Given the description of an element on the screen output the (x, y) to click on. 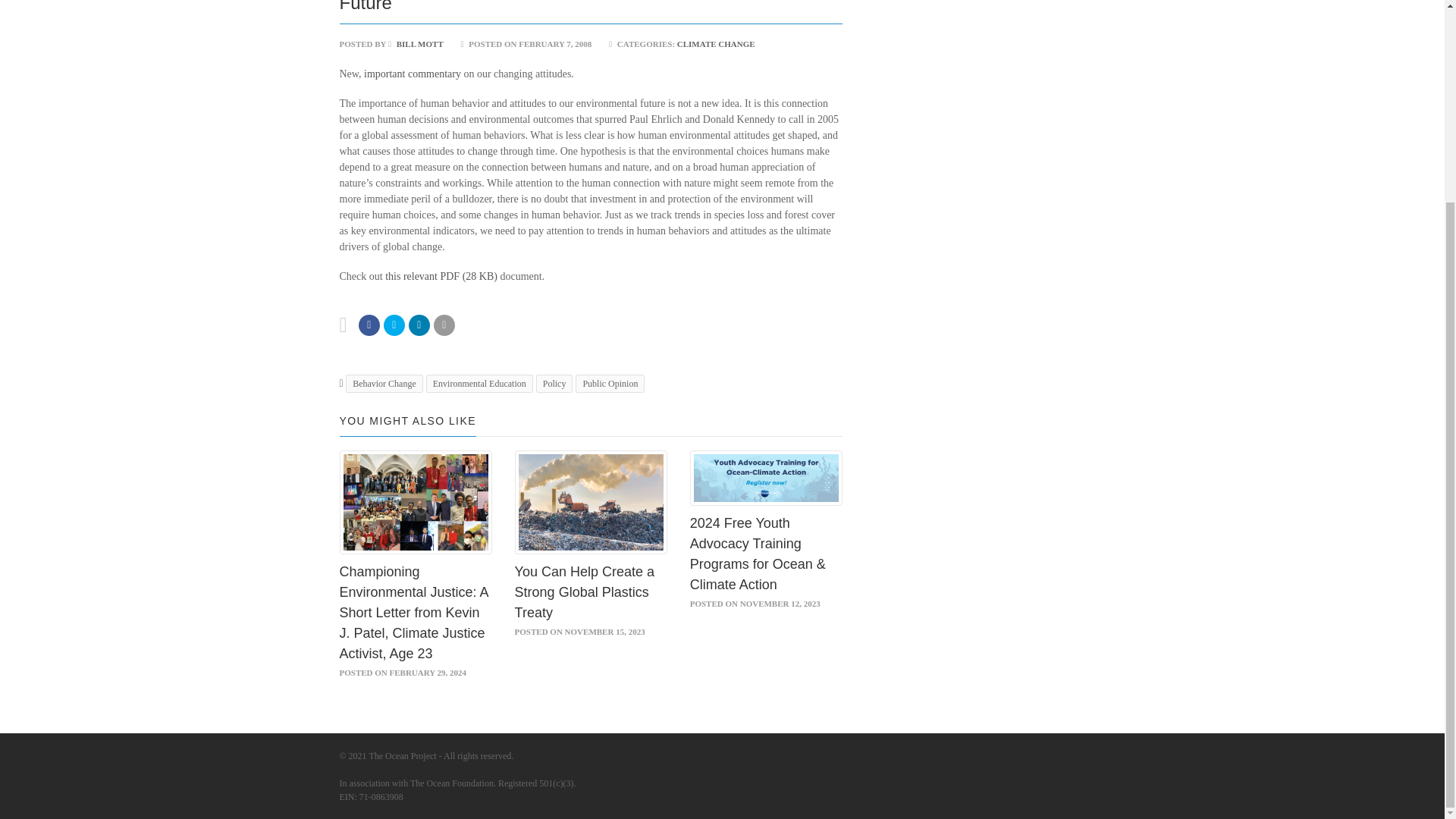
Tweet (394, 324)
Share on Facebook (369, 324)
Email (443, 324)
AT Zoom Registration Banner (766, 477)
Email (419, 324)
